Given the description of an element on the screen output the (x, y) to click on. 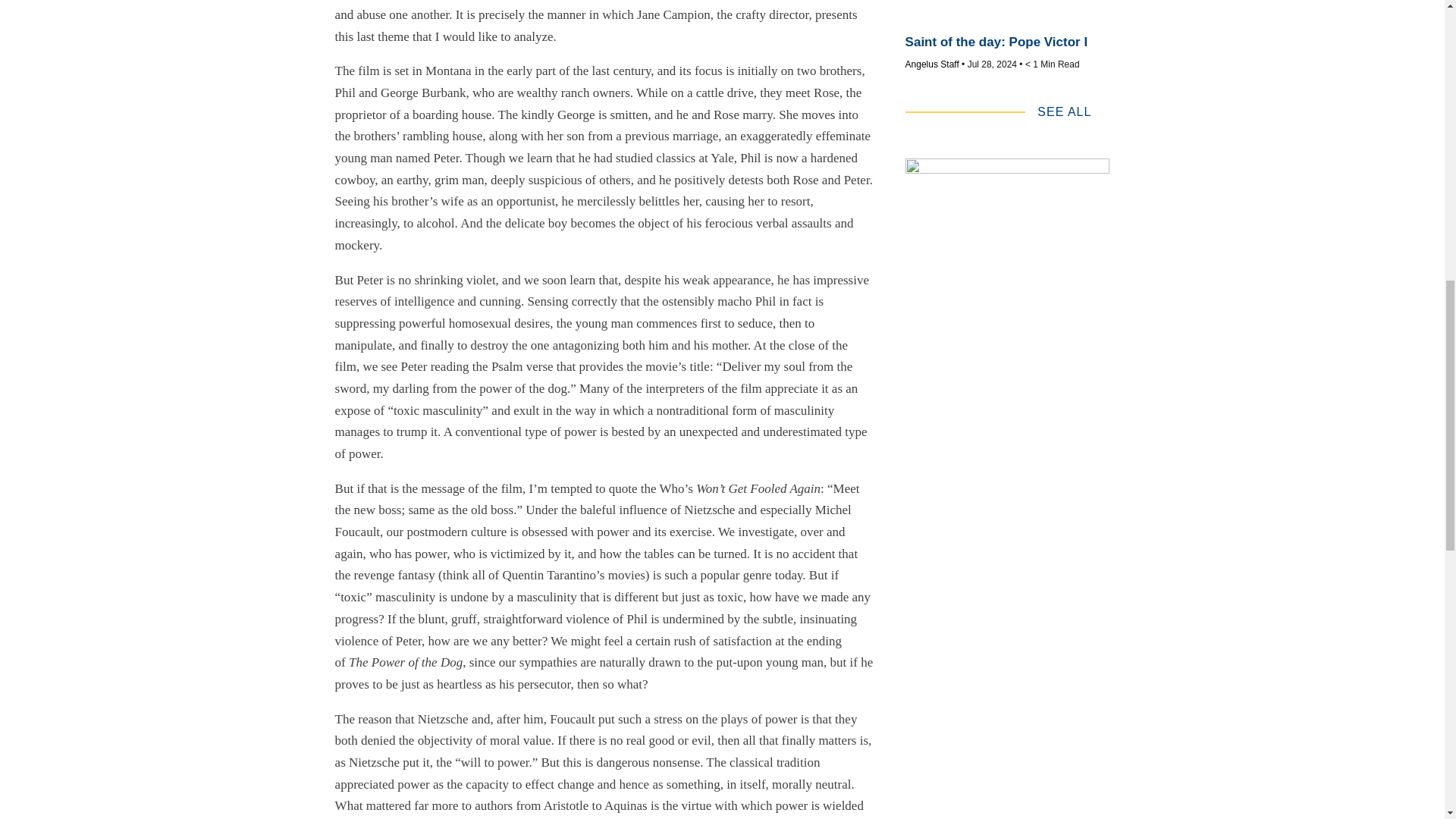
Posts by Angelus Staff (932, 63)
